Given the description of an element on the screen output the (x, y) to click on. 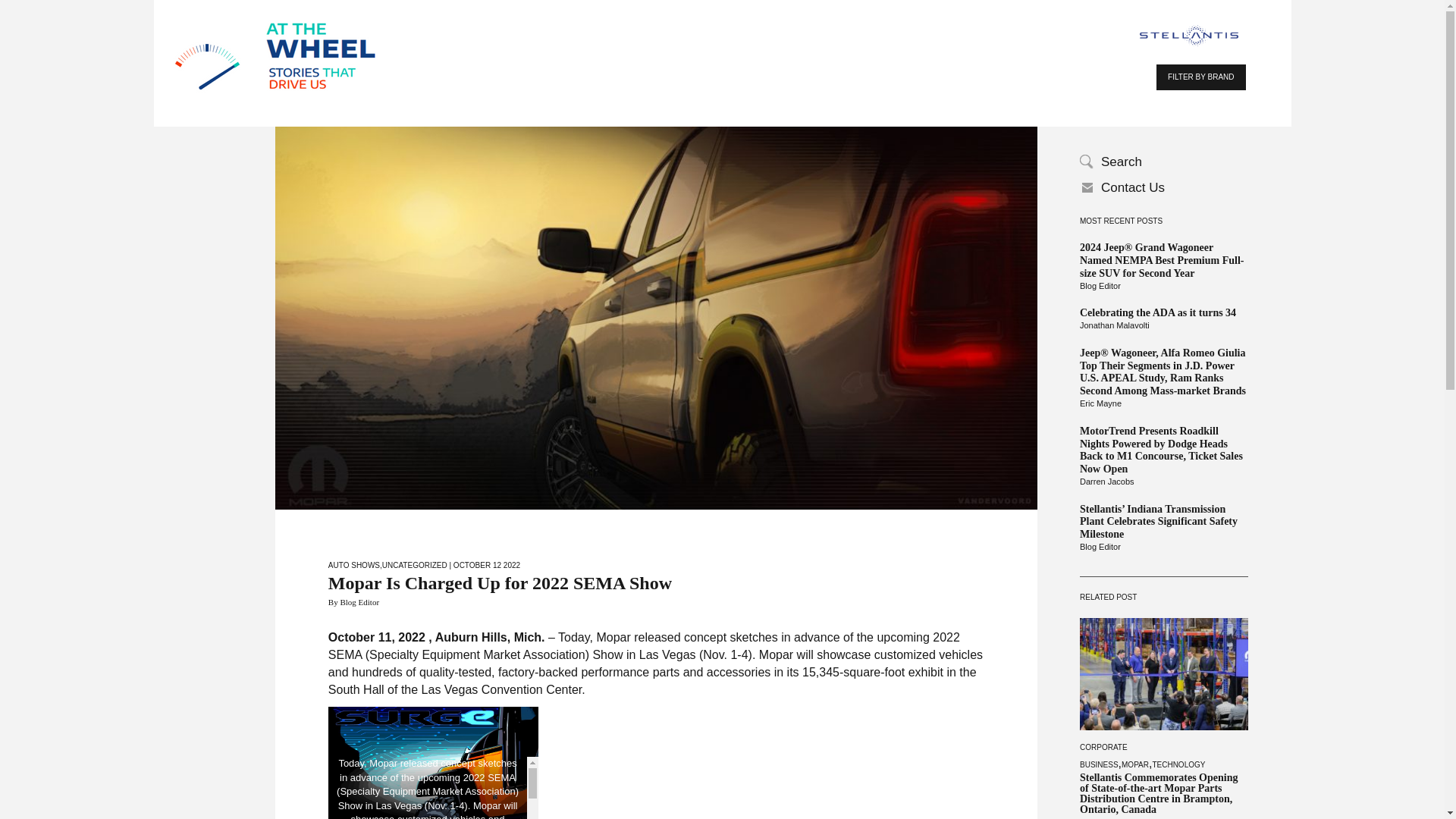
CORPORATE BUSINESS (1103, 755)
TECHNOLOGY (1178, 764)
Blog Editor (1163, 547)
Darren Jacobs (1163, 481)
MOPAR (1134, 764)
FILTER BY BRAND (1200, 77)
Contact Us (1163, 187)
